Given the description of an element on the screen output the (x, y) to click on. 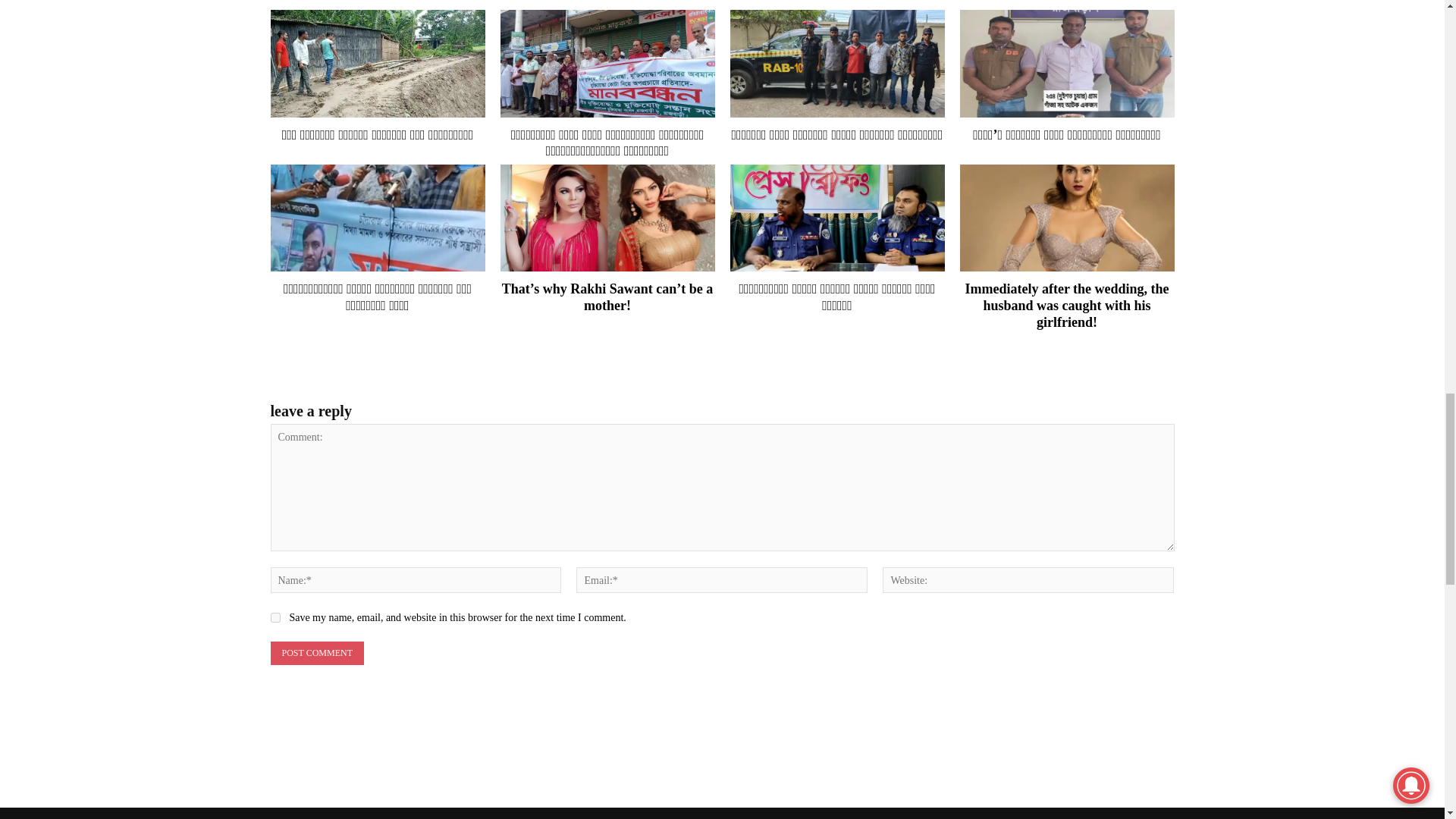
Post Comment (315, 653)
yes (274, 617)
